Given the description of an element on the screen output the (x, y) to click on. 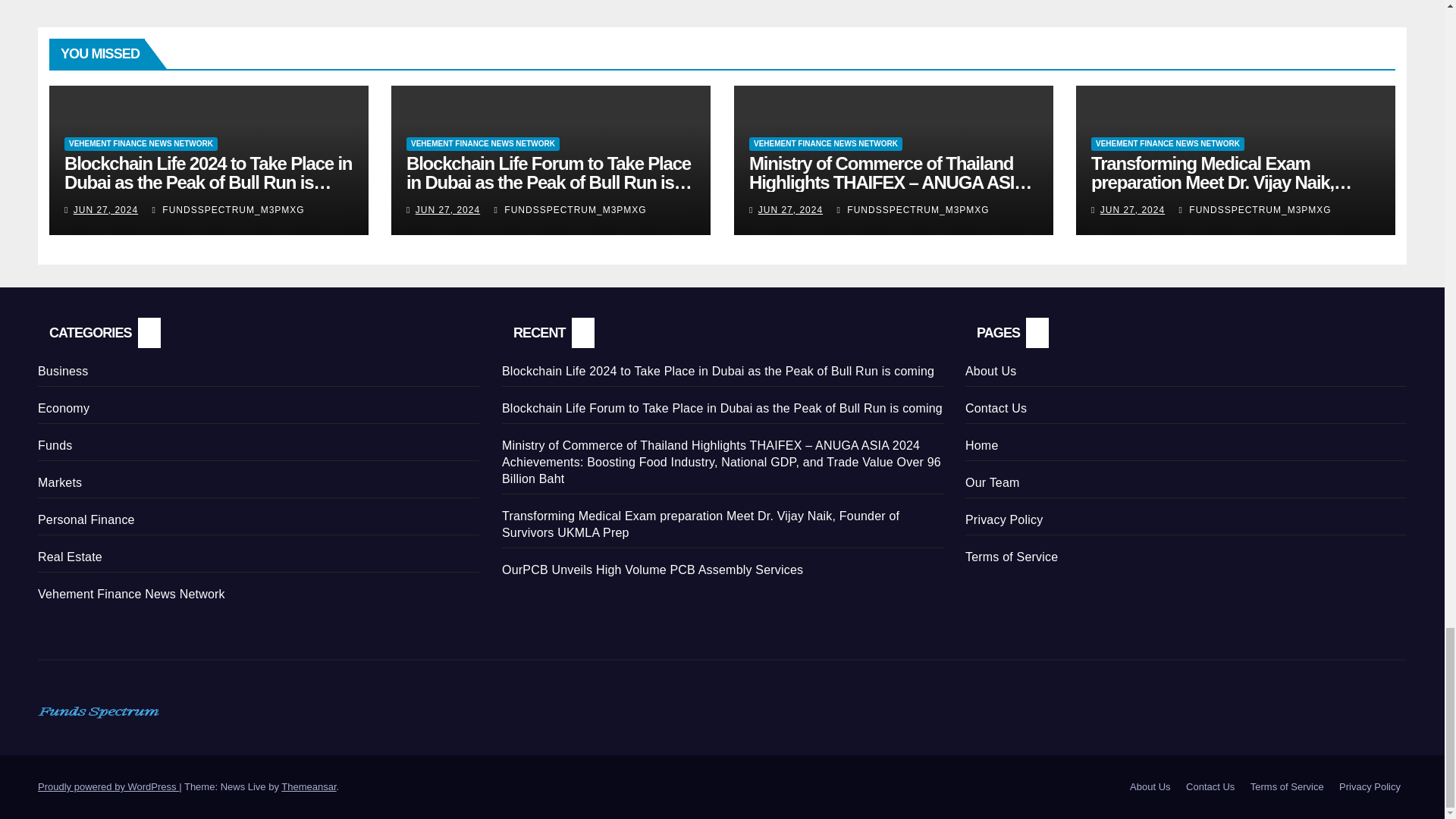
About Us (1150, 786)
